Given the description of an element on the screen output the (x, y) to click on. 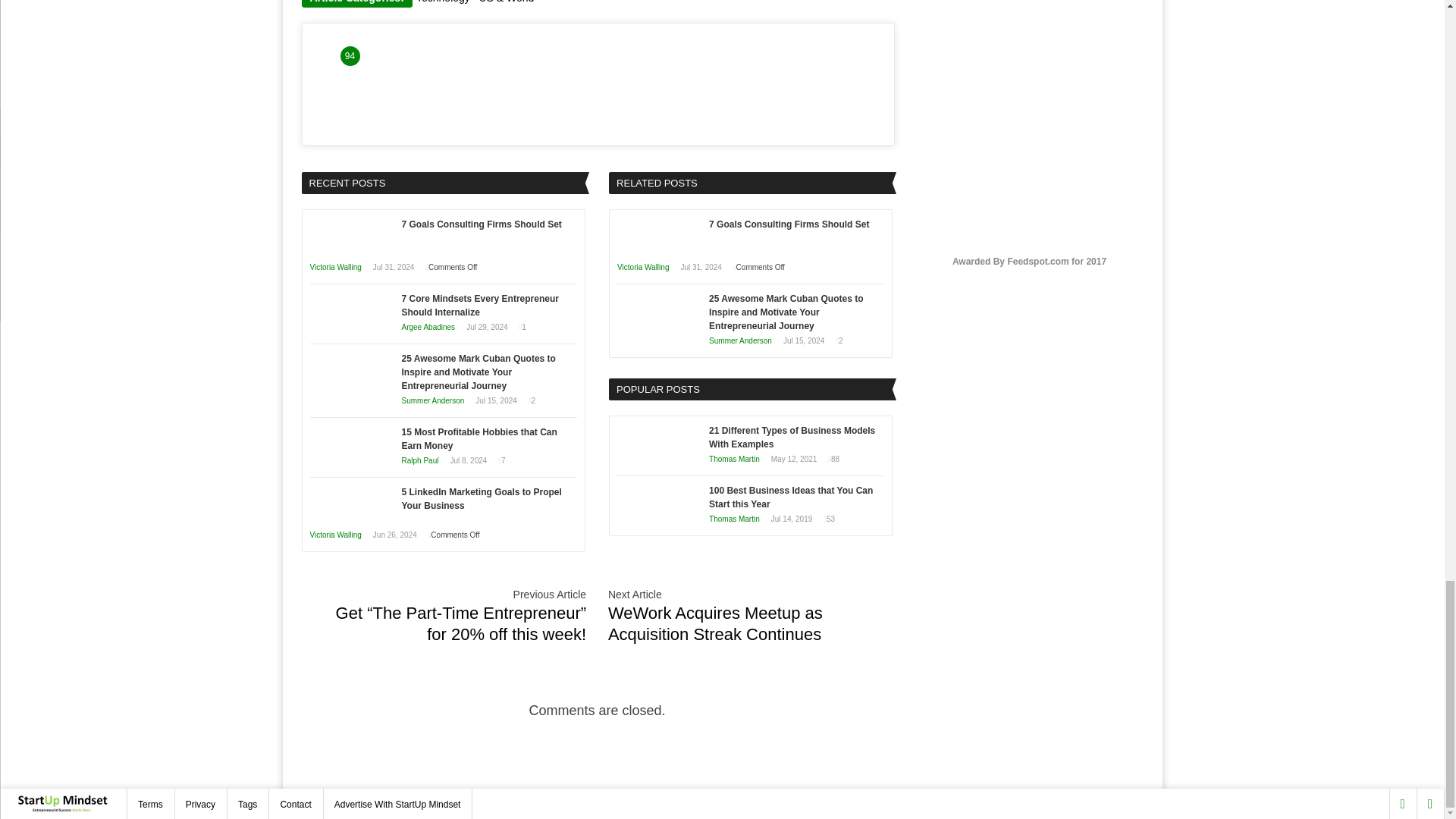
Technology (443, 2)
Posts by Summer Anderson (432, 400)
Posts by Victoria Walling (334, 534)
Posts by Argee Abadines (428, 326)
94 (349, 55)
Posts by Ralph Paul (420, 460)
Posts by Summer Anderson (740, 340)
Posts by Thomas Martin (734, 519)
Posts by Victoria Walling (334, 266)
Posts by Thomas Martin (734, 459)
